Given the description of an element on the screen output the (x, y) to click on. 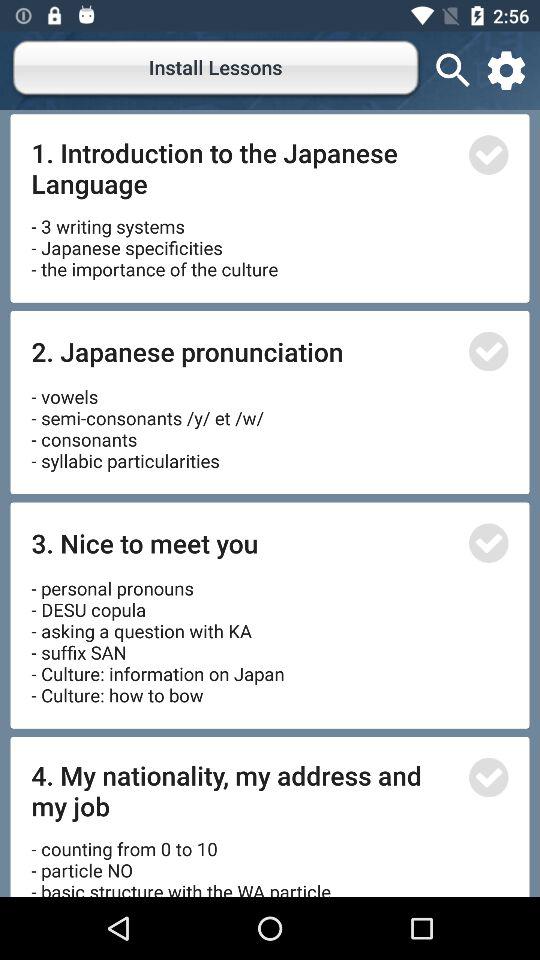
select this option (488, 351)
